Given the description of an element on the screen output the (x, y) to click on. 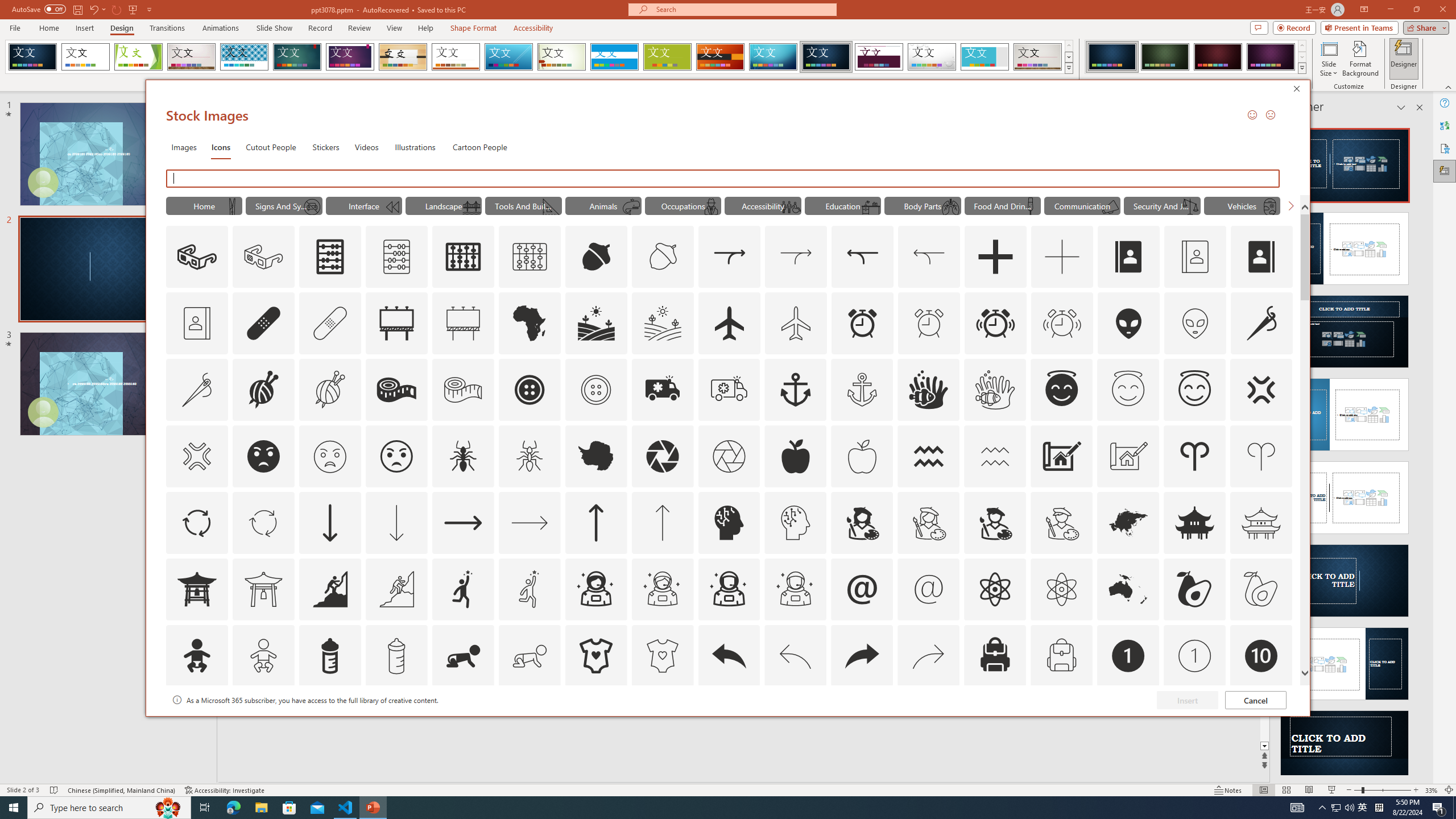
AutomationID: Icons_Lungs_M (950, 206)
AutomationID: Icons_Badge10_M (196, 721)
Facet (138, 56)
Integral (244, 56)
AutomationID: Icons_Baby (196, 655)
